Given the description of an element on the screen output the (x, y) to click on. 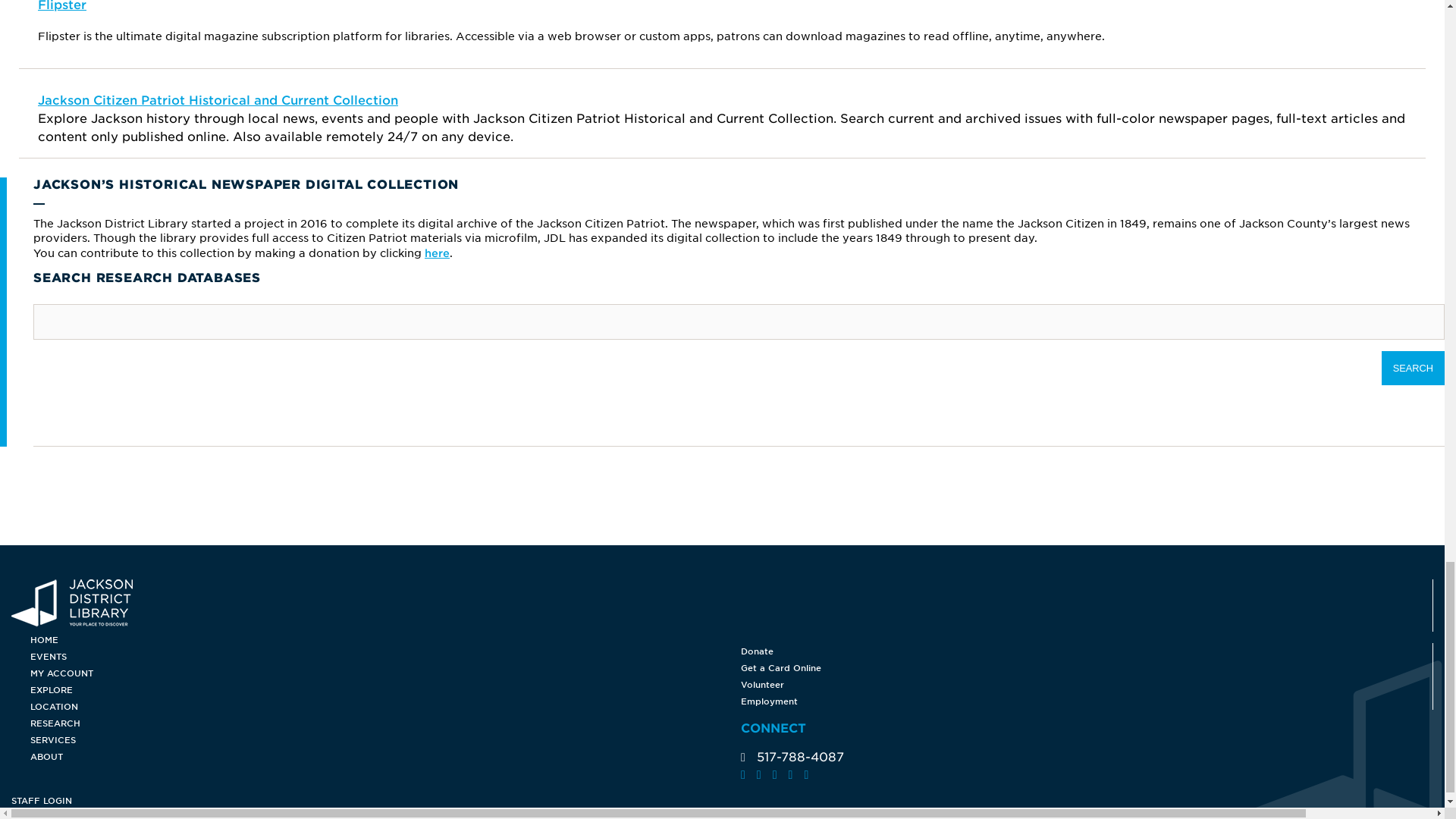
Explore (385, 689)
Search (1412, 367)
About (385, 756)
Home (385, 639)
Services (385, 740)
Events (385, 656)
Employment (721, 701)
Location (385, 706)
Donate (721, 651)
Volunteer (721, 684)
Get a Card Online (721, 668)
My Account (385, 673)
Research (385, 723)
